Given the description of an element on the screen output the (x, y) to click on. 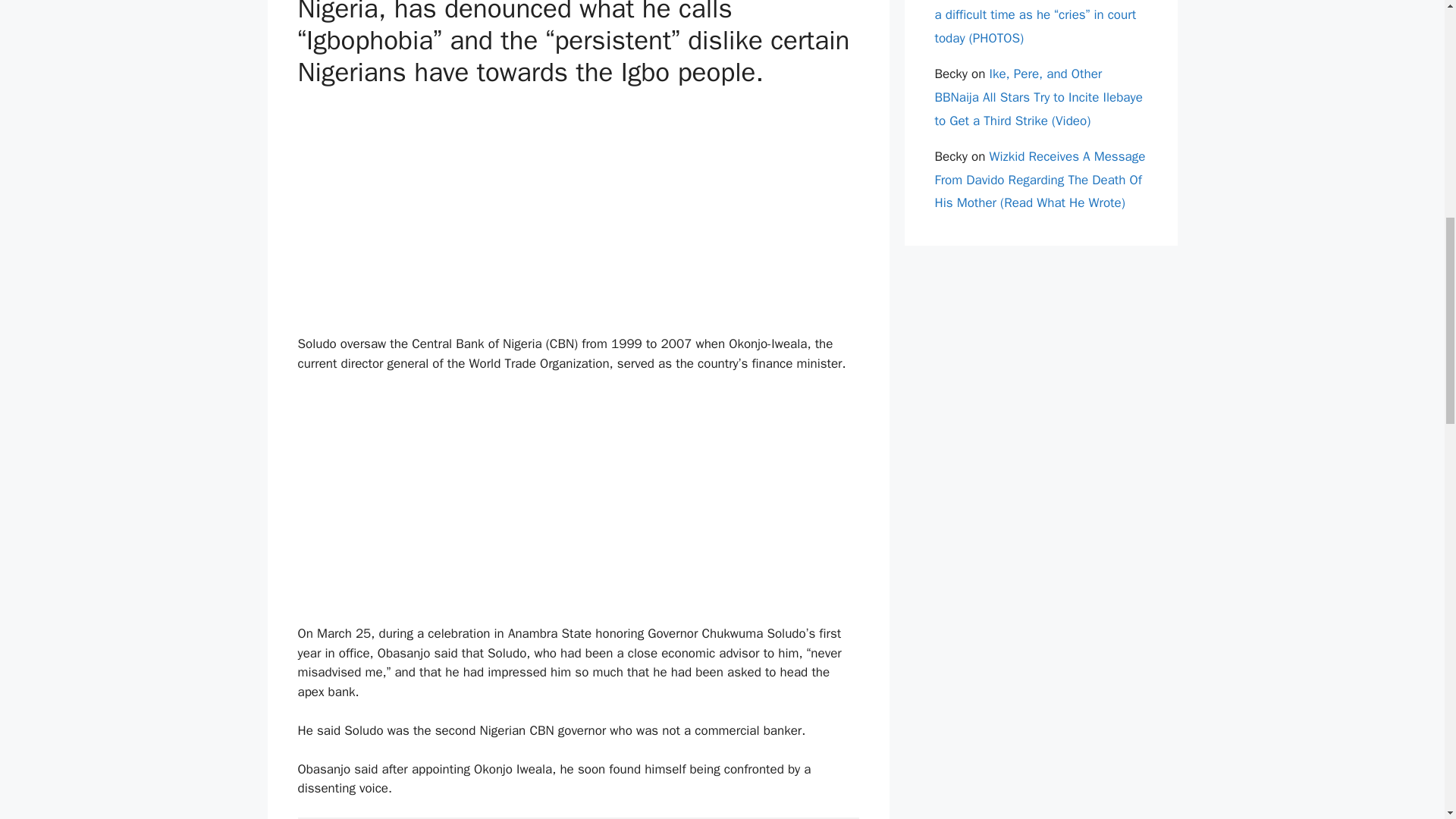
UTME Fraud: New Order From Gov. Soludo in Mmesoma's Case (649, 295)
Biography of Uba Sani, the incoming governor of Kaduna (792, 302)
Latest News (344, 540)
Bola Tinubu: From Senator To President (506, 437)
Biography of Uba Sani, the incoming governor of Kaduna (791, 295)
LatestNews (343, 558)
News (393, 540)
UTME Fraud: New Order From Gov. Soludo in Mmesoma's Case (649, 302)
Bola Tinubu: From Senator To President (507, 444)
Trending Post (446, 540)
